Given the description of an element on the screen output the (x, y) to click on. 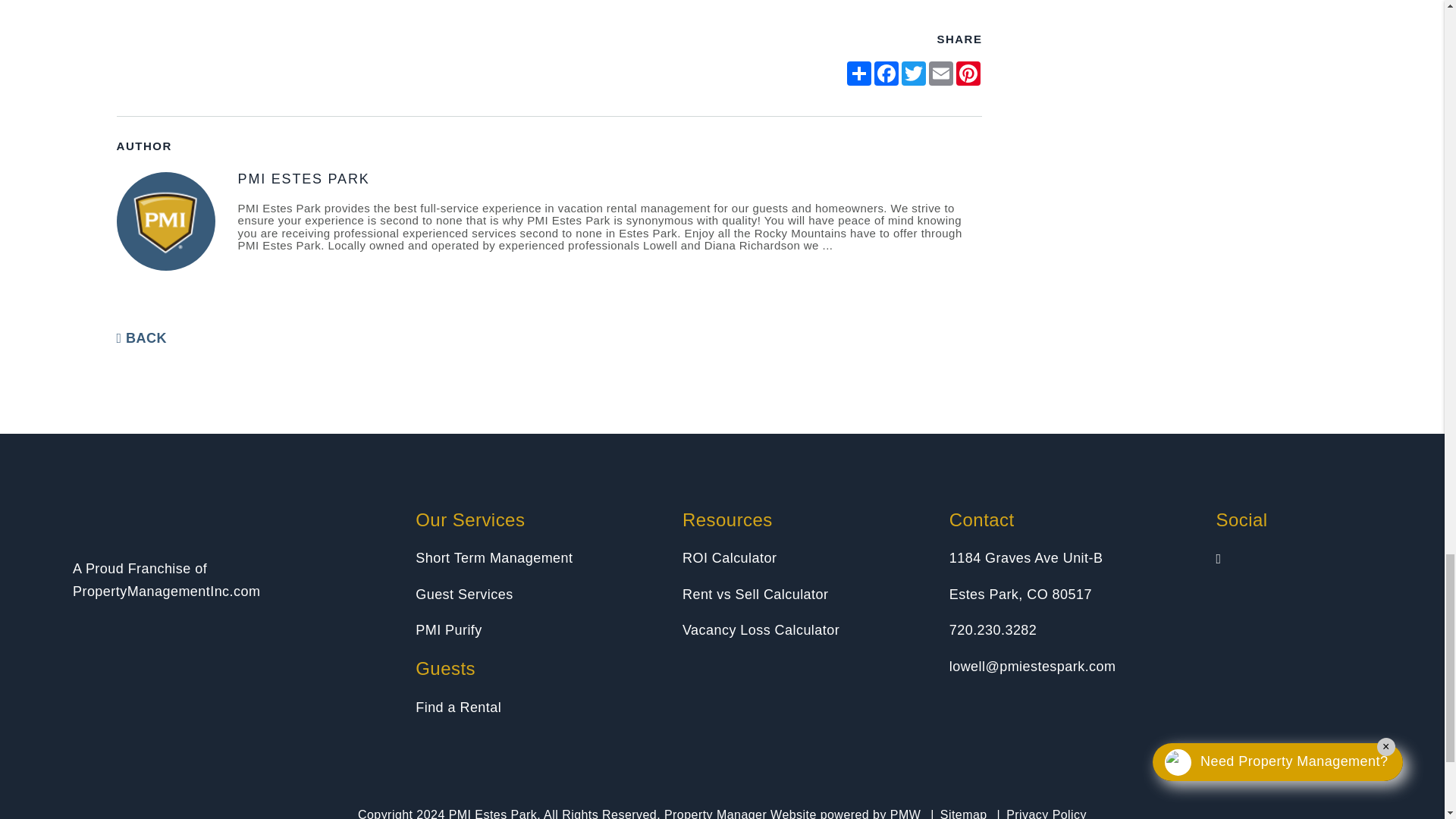
opens in new tab (166, 590)
opens in new window (968, 73)
opens in new window (885, 73)
opens in new window (858, 73)
opens in new window (941, 73)
Opens in new window (457, 707)
opens in new window (913, 73)
